Given the description of an element on the screen output the (x, y) to click on. 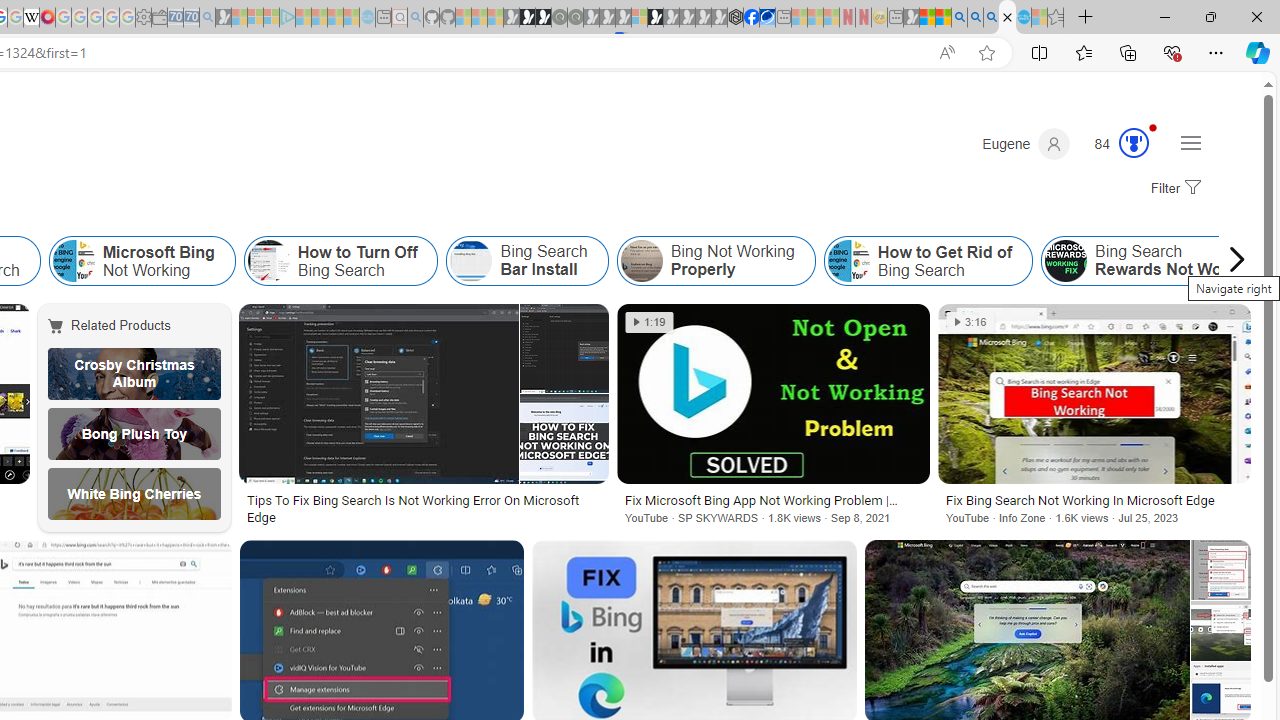
github - Search - Sleeping (415, 17)
Services - Maintenance | Sky Blue Bikes - Sky Blue Bikes (1023, 17)
How to Turn Off Bing Search (268, 260)
Target page - Wikipedia (31, 17)
Microsoft account | Privacy - Sleeping (271, 17)
1:19 (649, 322)
